Given the description of an element on the screen output the (x, y) to click on. 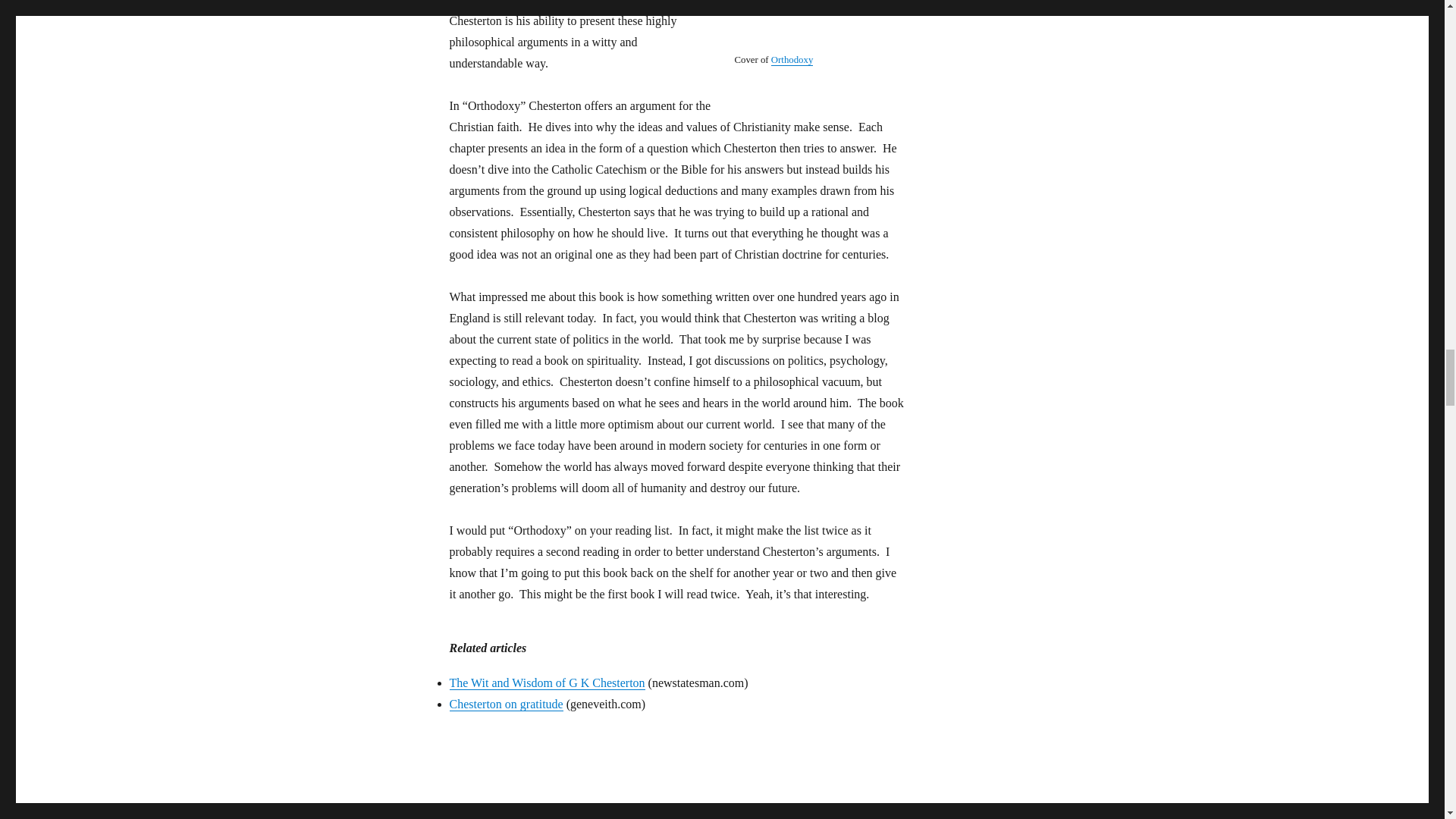
Orthodoxy (791, 59)
Cover of "Orthodoxy" (808, 25)
Chesterton on gratitude (505, 703)
The Wit and Wisdom of G K Chesterton (546, 682)
